Given the description of an element on the screen output the (x, y) to click on. 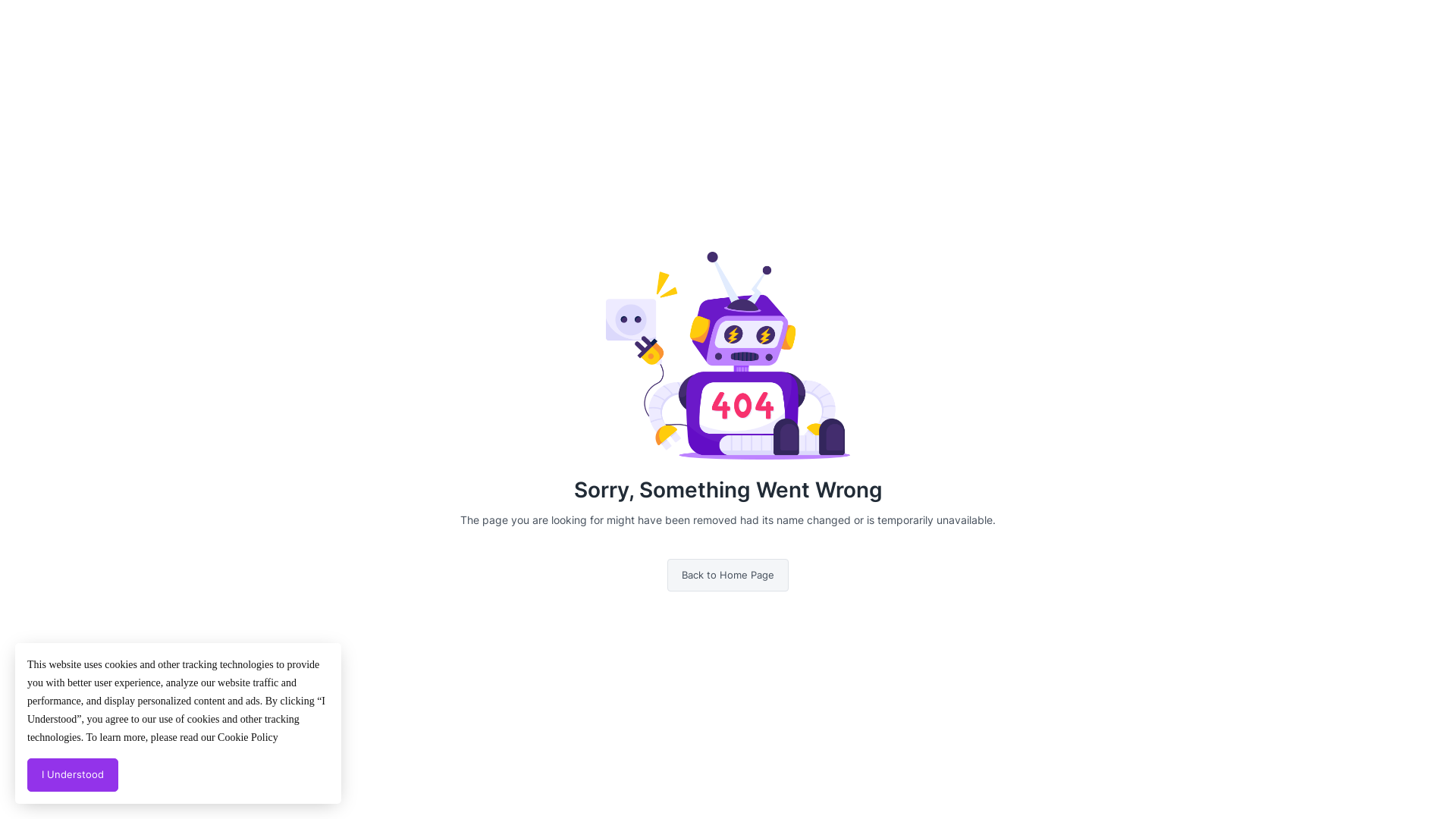
I Understood Element type: text (72, 774)
Back to Home Page Element type: text (727, 575)
